Given the description of an element on the screen output the (x, y) to click on. 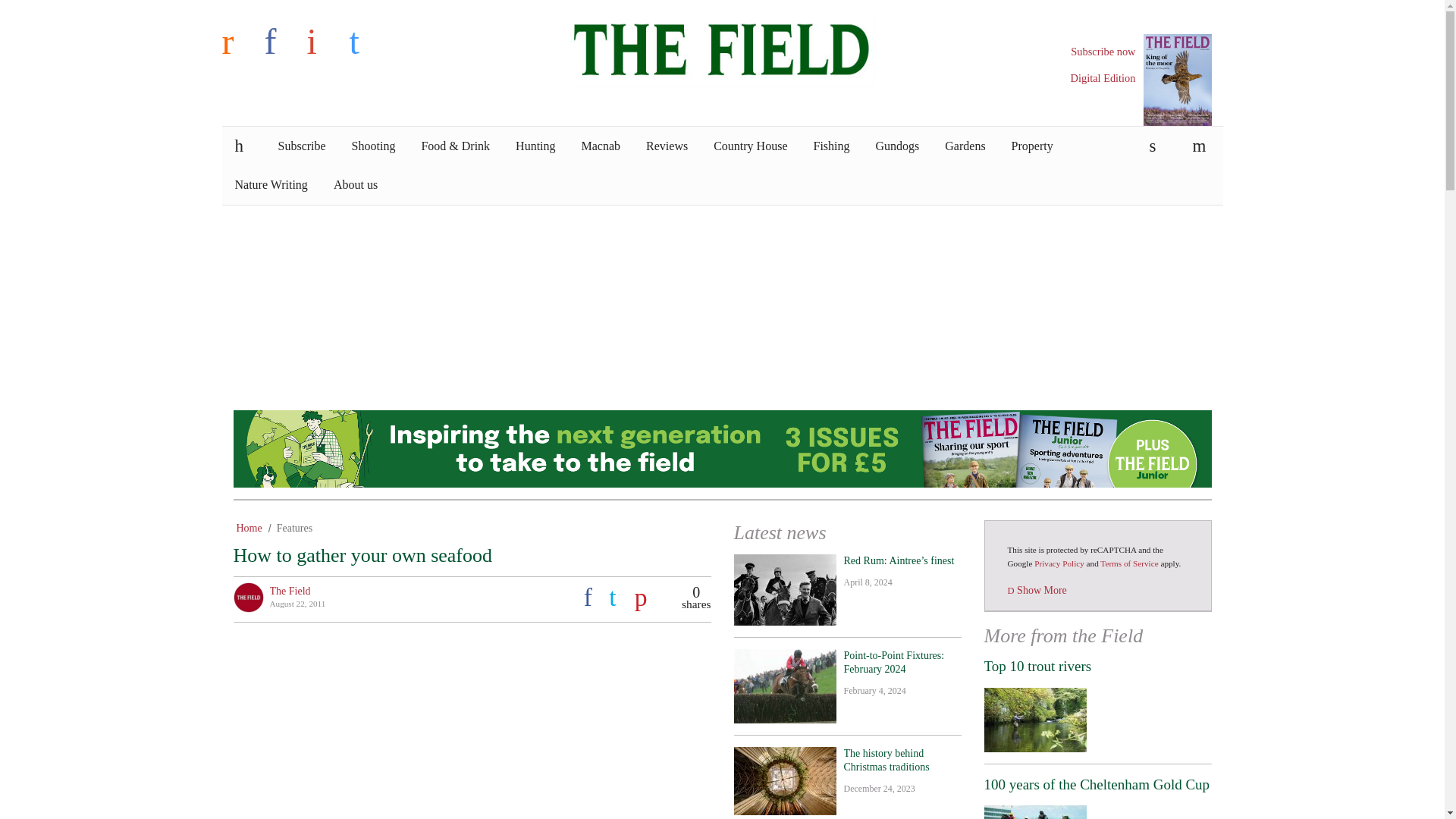
i (323, 41)
Subscribe now (1102, 51)
Gundogs (898, 146)
Subscribe (301, 146)
Digital Edition (1102, 78)
Digital Edition (1102, 78)
Macnab (601, 146)
Reviews (666, 146)
Fishing (831, 146)
The Field's Profile (290, 591)
